Given the description of an element on the screen output the (x, y) to click on. 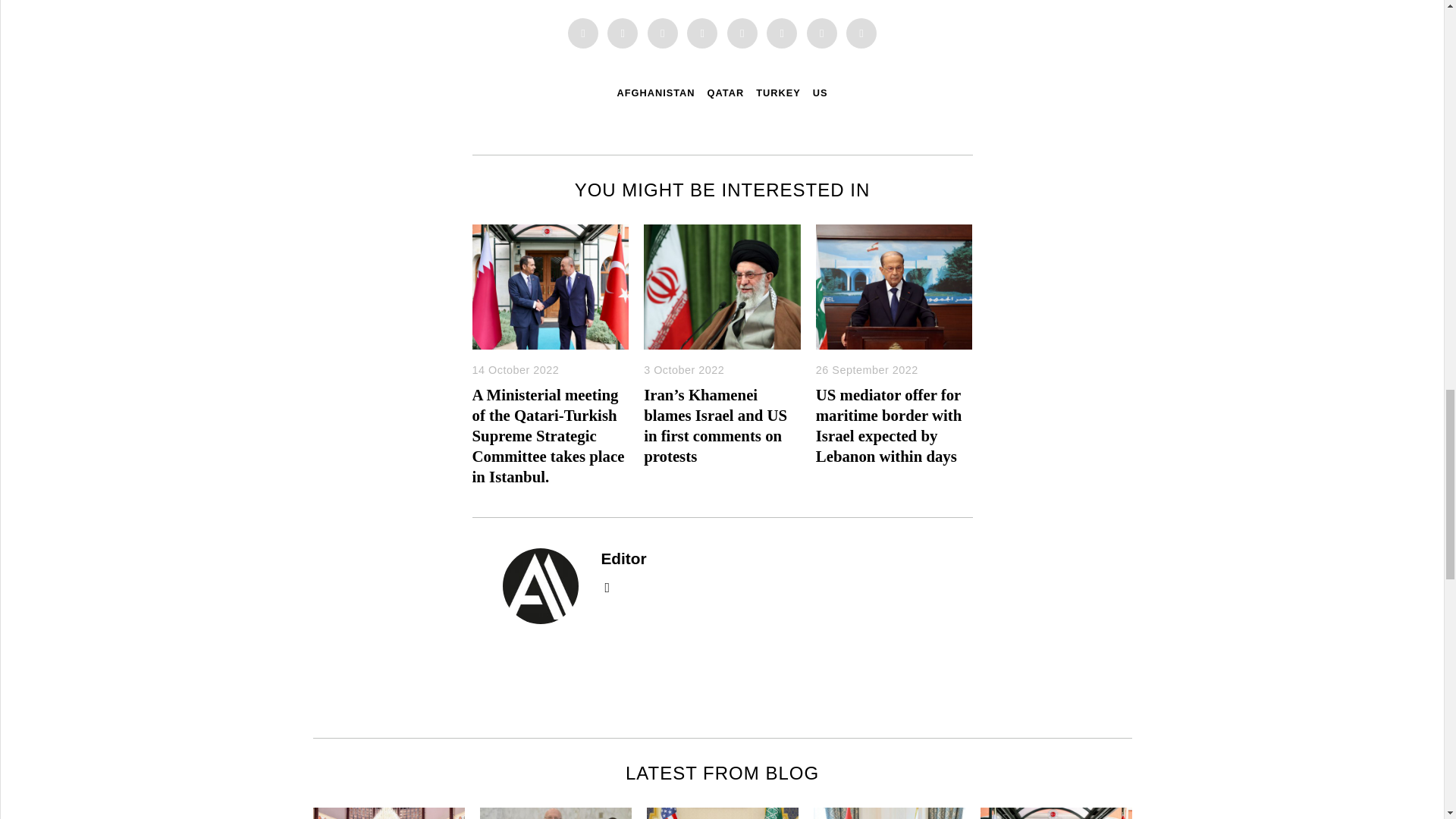
AFGHANISTAN (654, 92)
US (820, 92)
TURKEY (777, 92)
QATAR (725, 92)
